Given the description of an element on the screen output the (x, y) to click on. 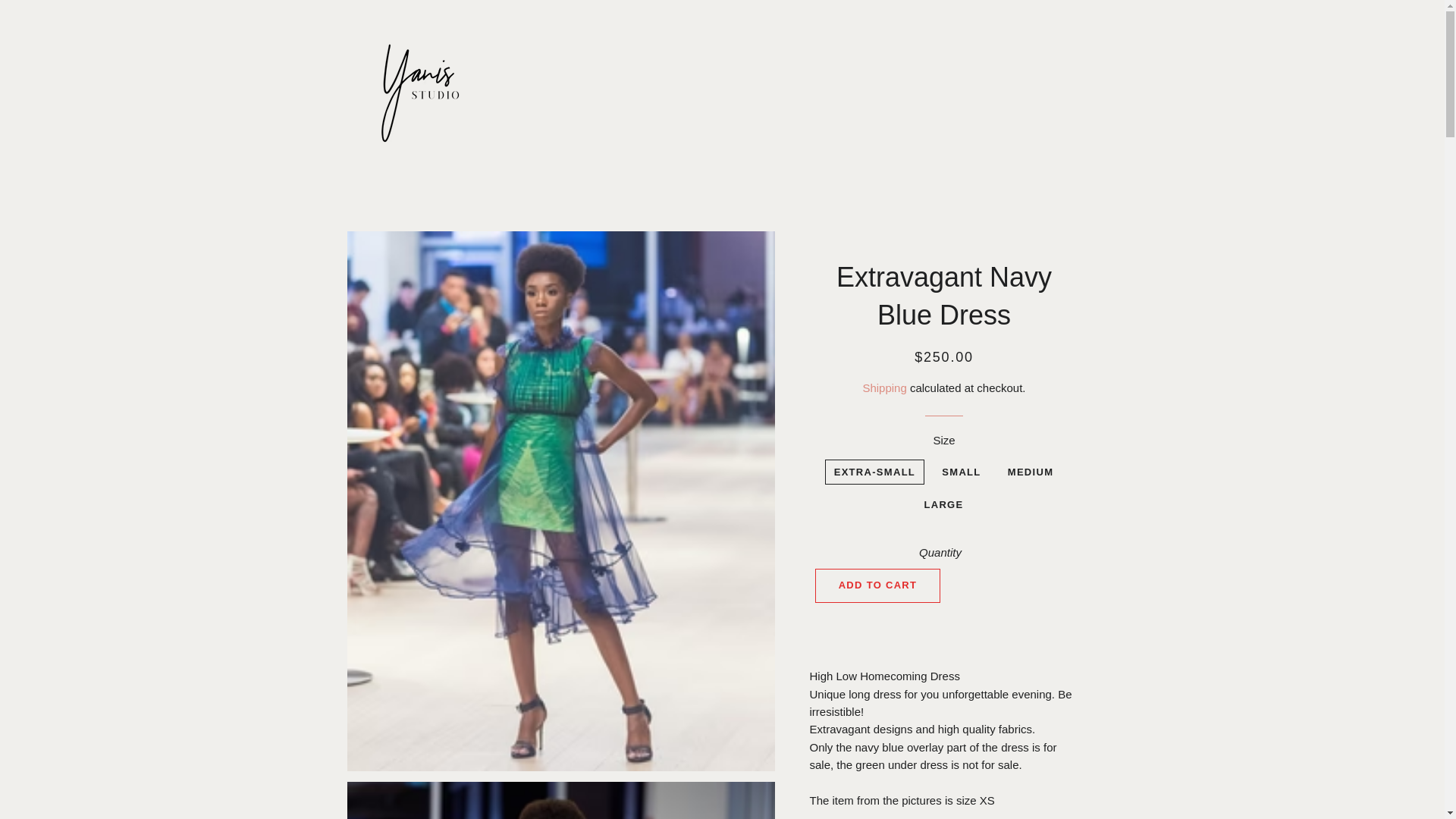
Shipping (883, 387)
ADD TO CART (877, 584)
